Given the description of an element on the screen output the (x, y) to click on. 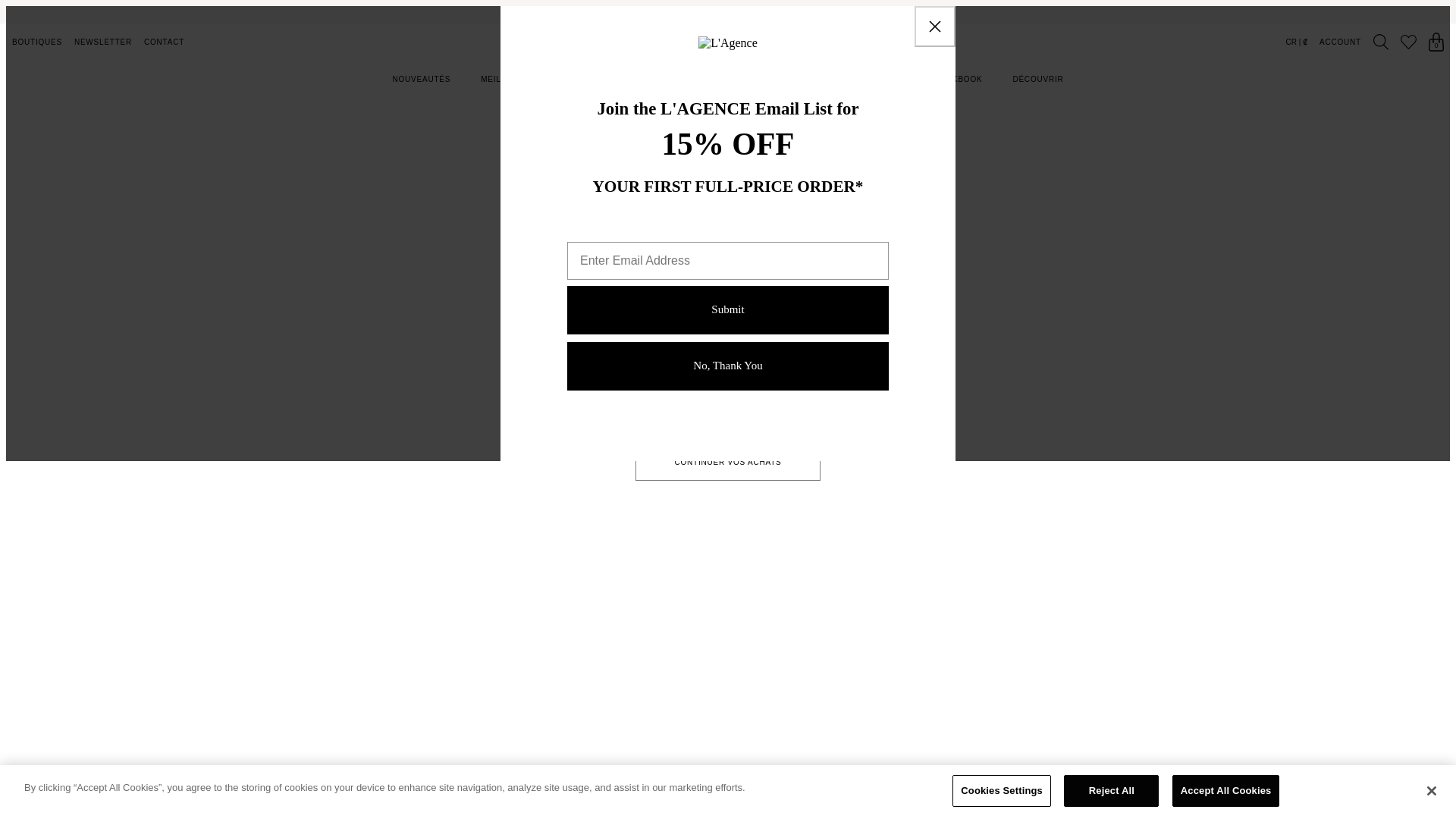
Magnifying Glass (1381, 41)
Boutiques (36, 41)
MEILLEURES VENTES (525, 79)
ACCOUNT (1340, 41)
Contact (164, 41)
Newsletter (103, 41)
Magnifying Glass (1381, 41)
CONTACT (164, 41)
Search (1381, 41)
NEWSLETTER (103, 41)
BOUTIQUES (36, 41)
ICI (892, 11)
